Given the description of an element on the screen output the (x, y) to click on. 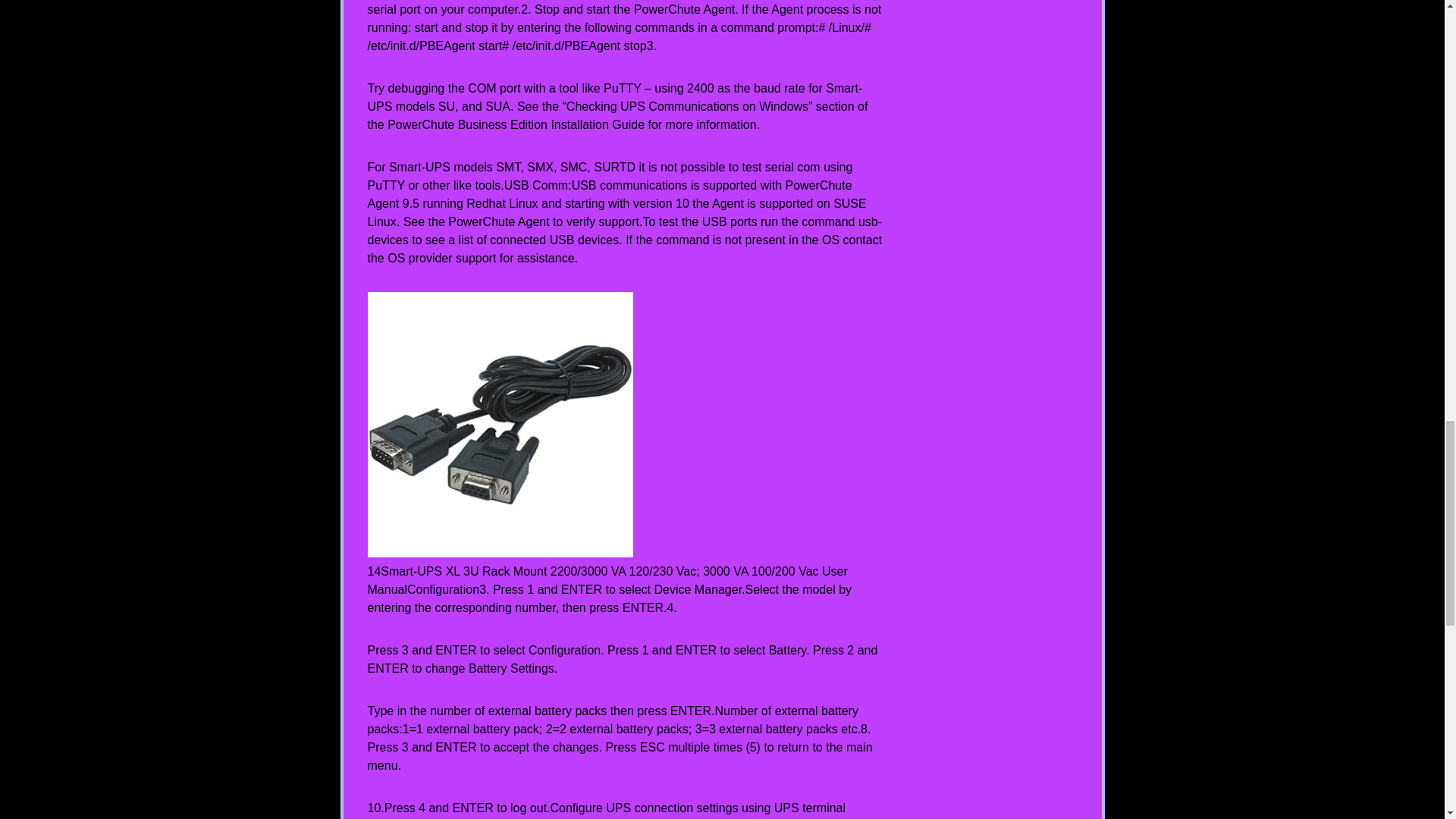
Serial connection cable (498, 423)
